Given the description of an element on the screen output the (x, y) to click on. 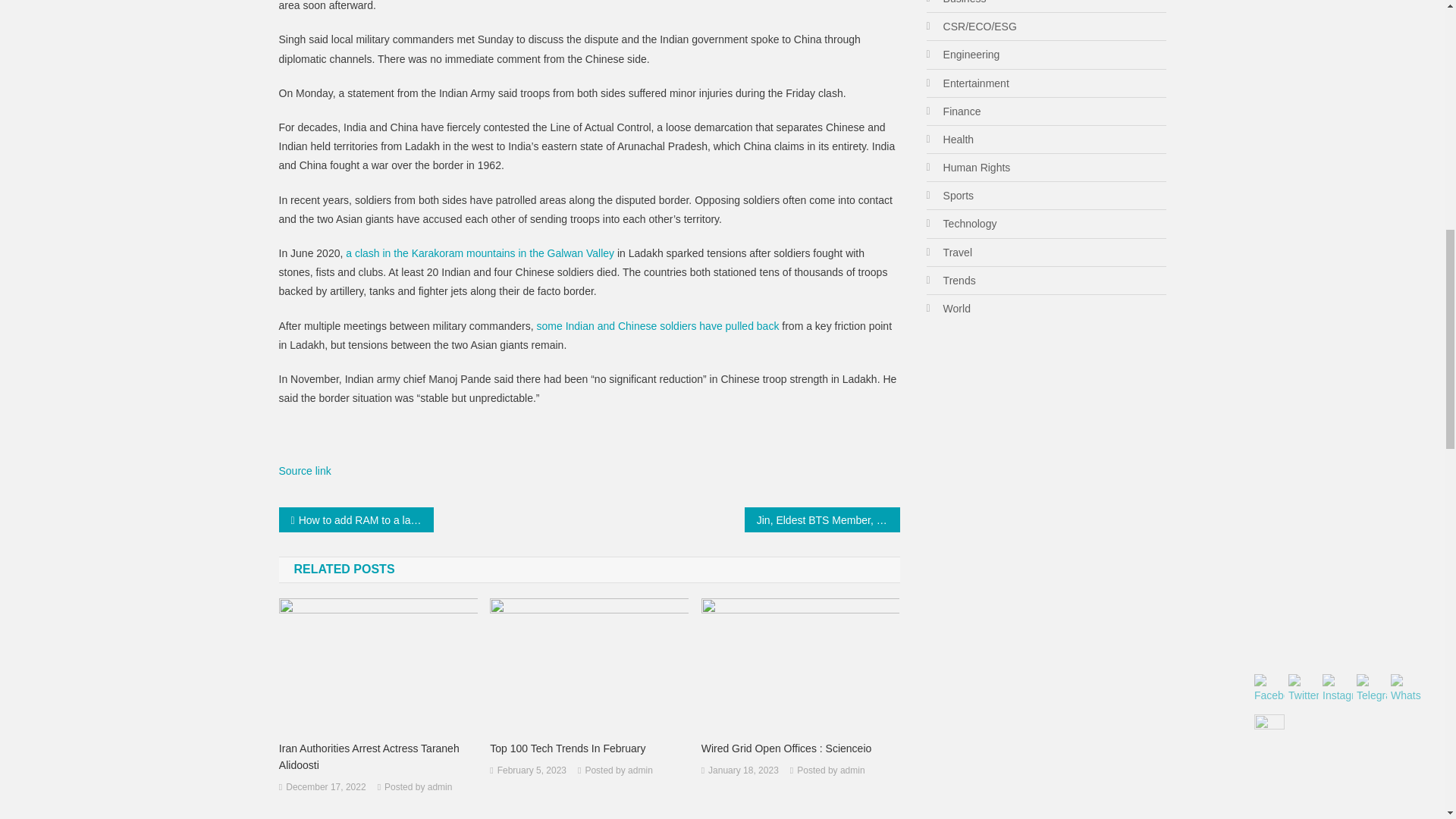
WhatsApp (1405, 689)
Source link (305, 470)
some Indian and Chinese soldiers have pulled back (657, 326)
December 17, 2022 (325, 787)
Instagram (1337, 689)
Posted by admin (417, 787)
Twitter (1303, 689)
How to add RAM to a laptop (356, 519)
Facebook (1268, 689)
Telegram (1371, 689)
